Given the description of an element on the screen output the (x, y) to click on. 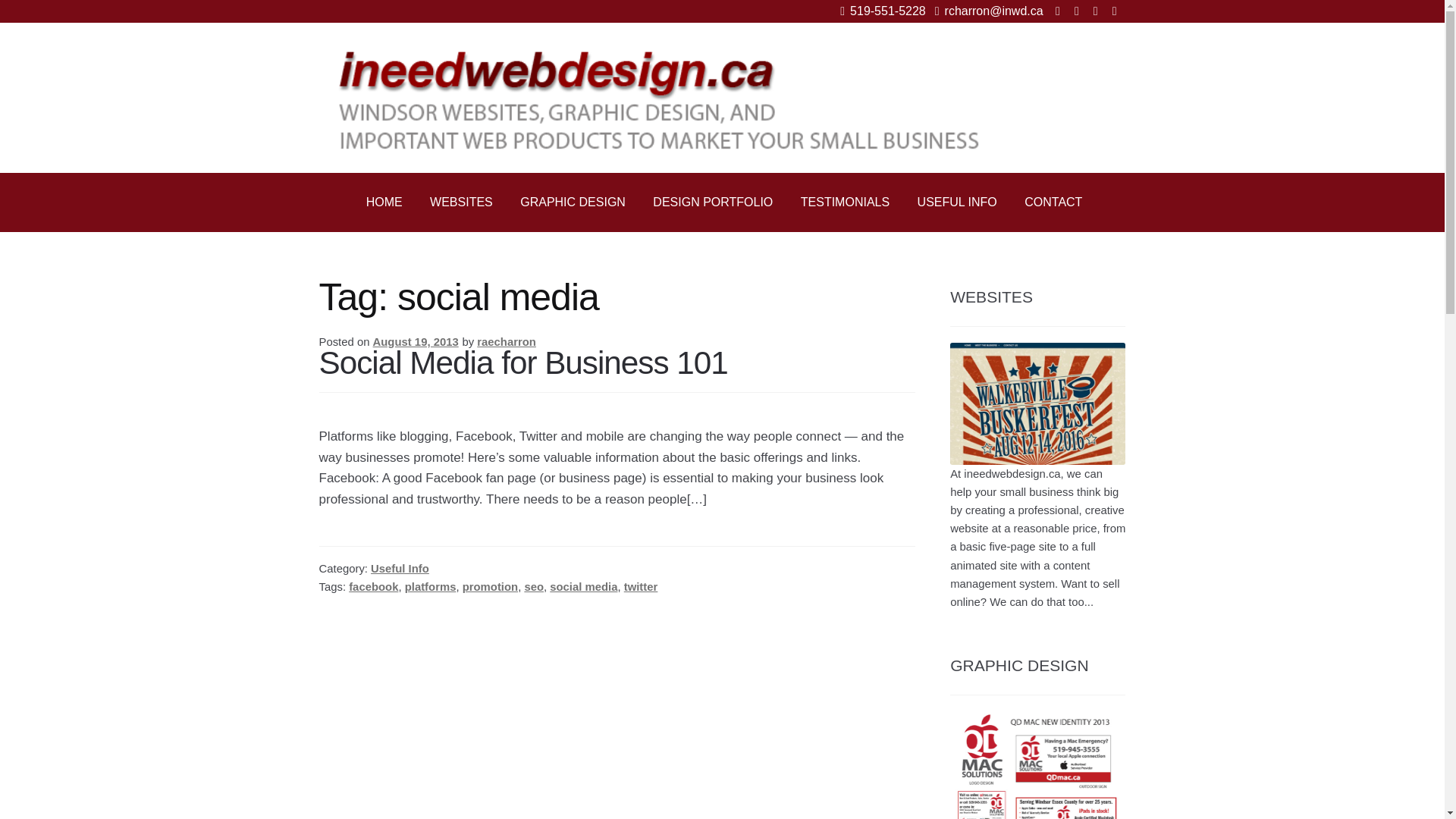
USEFUL INFO (957, 201)
GRAPHIC DESIGN (572, 201)
CONTACT (1052, 201)
social media (583, 586)
DESIGN PORTFOLIO (712, 201)
WEBSITES (461, 201)
Social Media for Business 101 (523, 362)
promotion (490, 586)
Useful Info (400, 568)
